Given the description of an element on the screen output the (x, y) to click on. 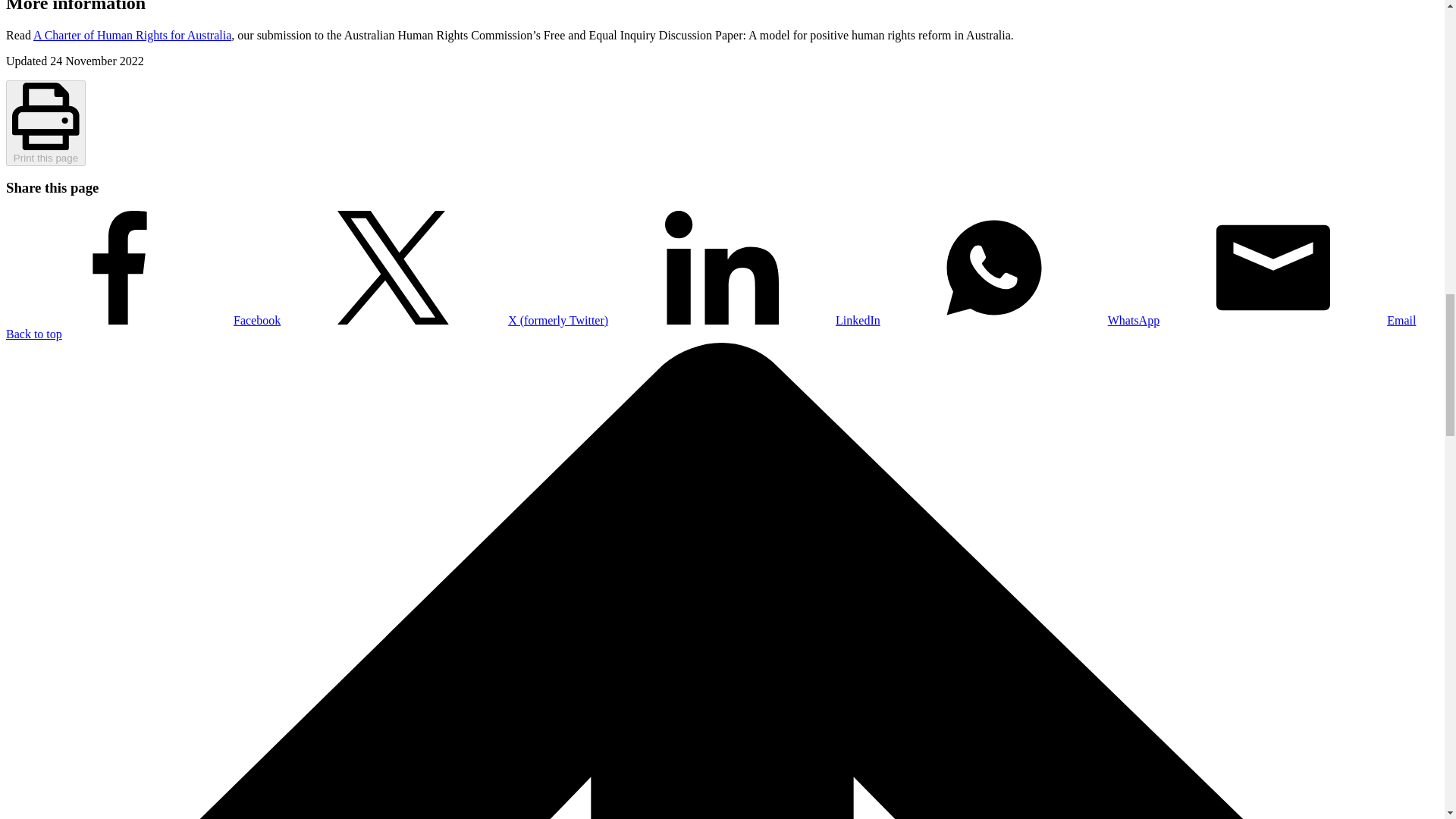
Print this page (45, 123)
A Charter of Human Rights for Australia (132, 34)
WhatsApp (1019, 319)
Email (1286, 319)
Facebook (143, 319)
LinkedIn (744, 319)
